Given the description of an element on the screen output the (x, y) to click on. 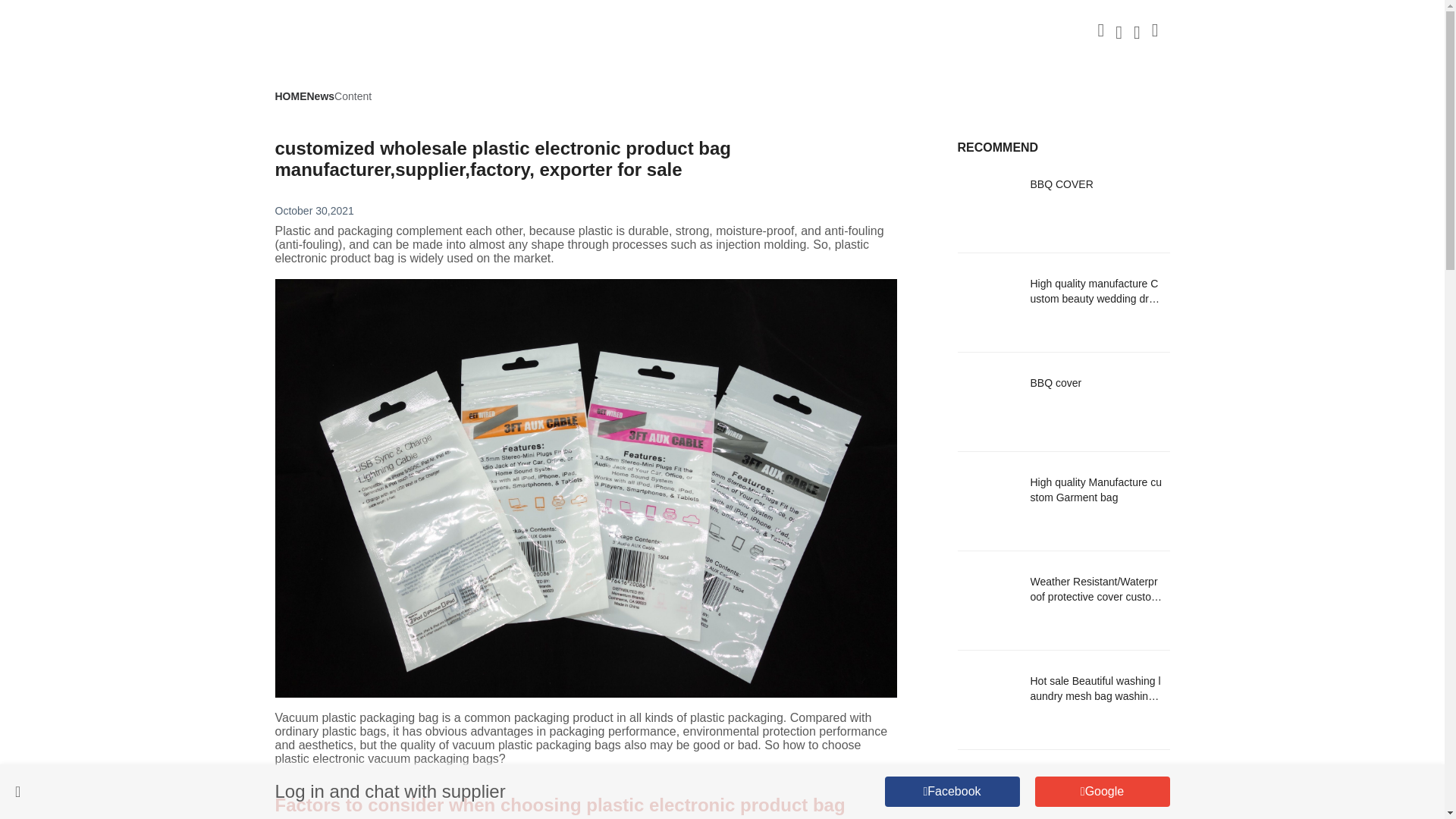
HOME (290, 96)
BBQ cover (1095, 390)
High quality Manufacture custom Garment bag (1095, 490)
BBQ COVER (1062, 202)
BBQ COVER (1095, 191)
News (319, 96)
